Given the description of an element on the screen output the (x, y) to click on. 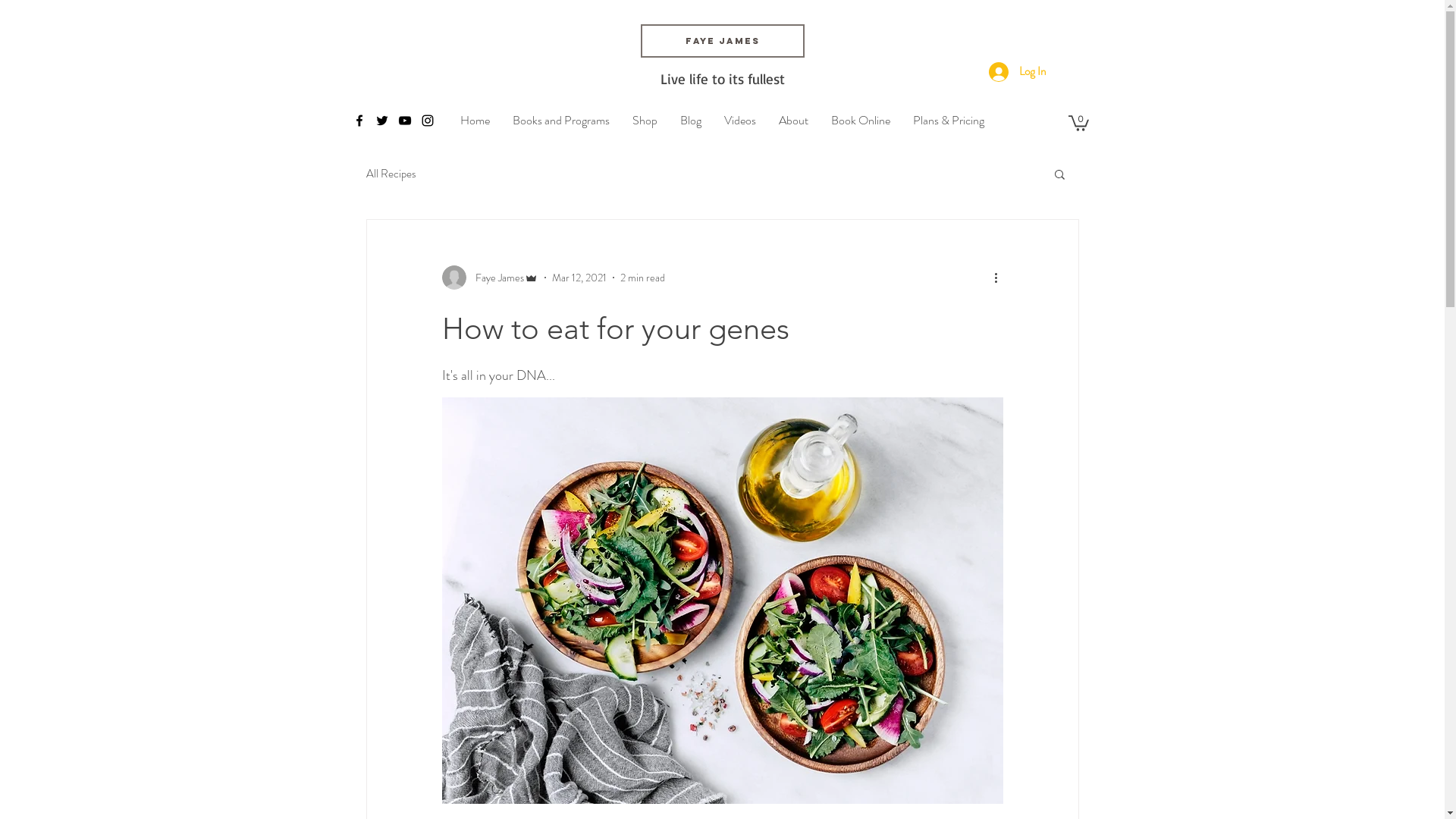
Videos Element type: text (739, 120)
Log In Element type: text (1017, 71)
Live life to its fullest Element type: text (721, 78)
Faye James Element type: text (721, 40)
Home Element type: text (474, 120)
About Element type: text (793, 120)
Faye James Element type: text (489, 277)
Books and Programs Element type: text (561, 120)
0 Element type: text (1077, 122)
Plans & Pricing Element type: text (948, 120)
Blog Element type: text (690, 120)
Shop Element type: text (644, 120)
Book Online Element type: text (860, 120)
All Recipes Element type: text (390, 173)
